Given the description of an element on the screen output the (x, y) to click on. 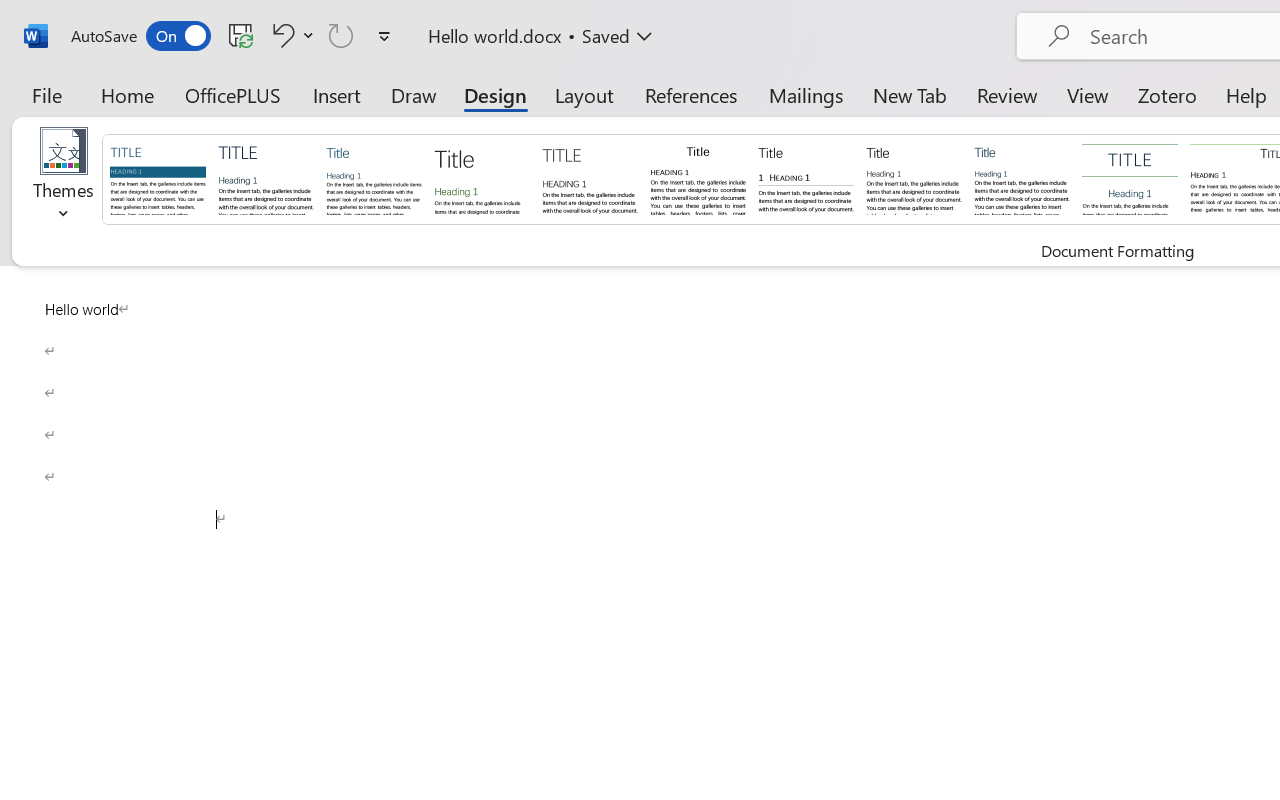
Design (495, 94)
Black & White (Capitalized) (589, 178)
Centered (1130, 178)
Undo Apply Quick Style Set (280, 35)
Home (127, 94)
AutoSave (140, 35)
Themes (63, 179)
Black & White (Word 2013) (913, 178)
Review (1007, 94)
New Tab (909, 94)
Black & White (Classic) (697, 178)
Mailings (806, 94)
More Options (308, 35)
